Given the description of an element on the screen output the (x, y) to click on. 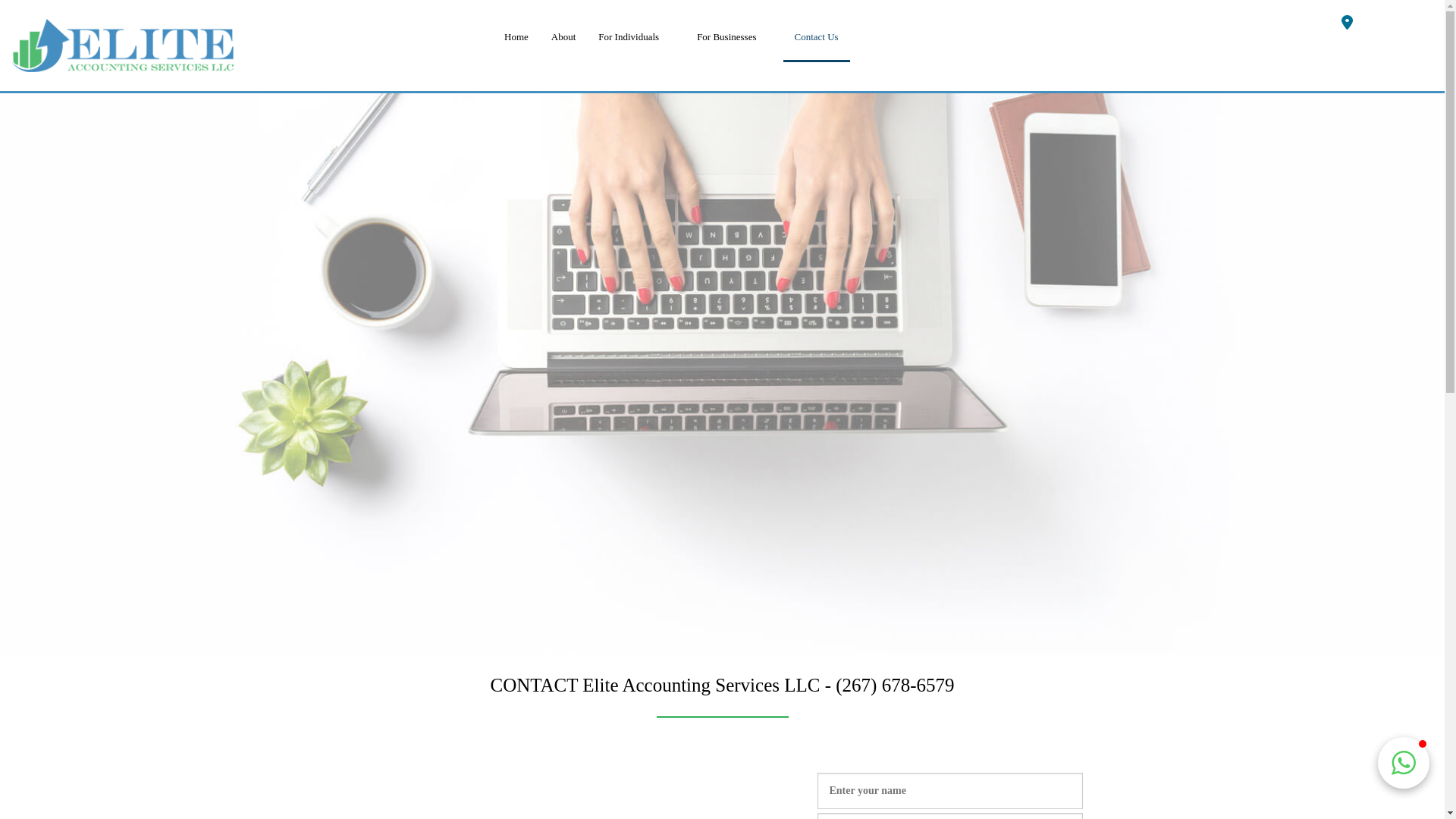
Home Element type: text (515, 36)
For Individuals Element type: text (635, 36)
Find us on Google Maps Element type: hover (1346, 24)
Business Accounting Element type: text (733, 127)
Accounting Firm Element type: text (635, 218)
Tax Preparation Element type: text (635, 127)
New Business Formation Element type: text (733, 173)
Bookkeeping Element type: text (733, 82)
Contact Us Element type: text (815, 38)
About Element type: text (563, 36)
Personal Financial Planning Element type: text (635, 173)
For Businesses Element type: text (733, 36)
Tax Planning Element type: text (635, 82)
